Given the description of an element on the screen output the (x, y) to click on. 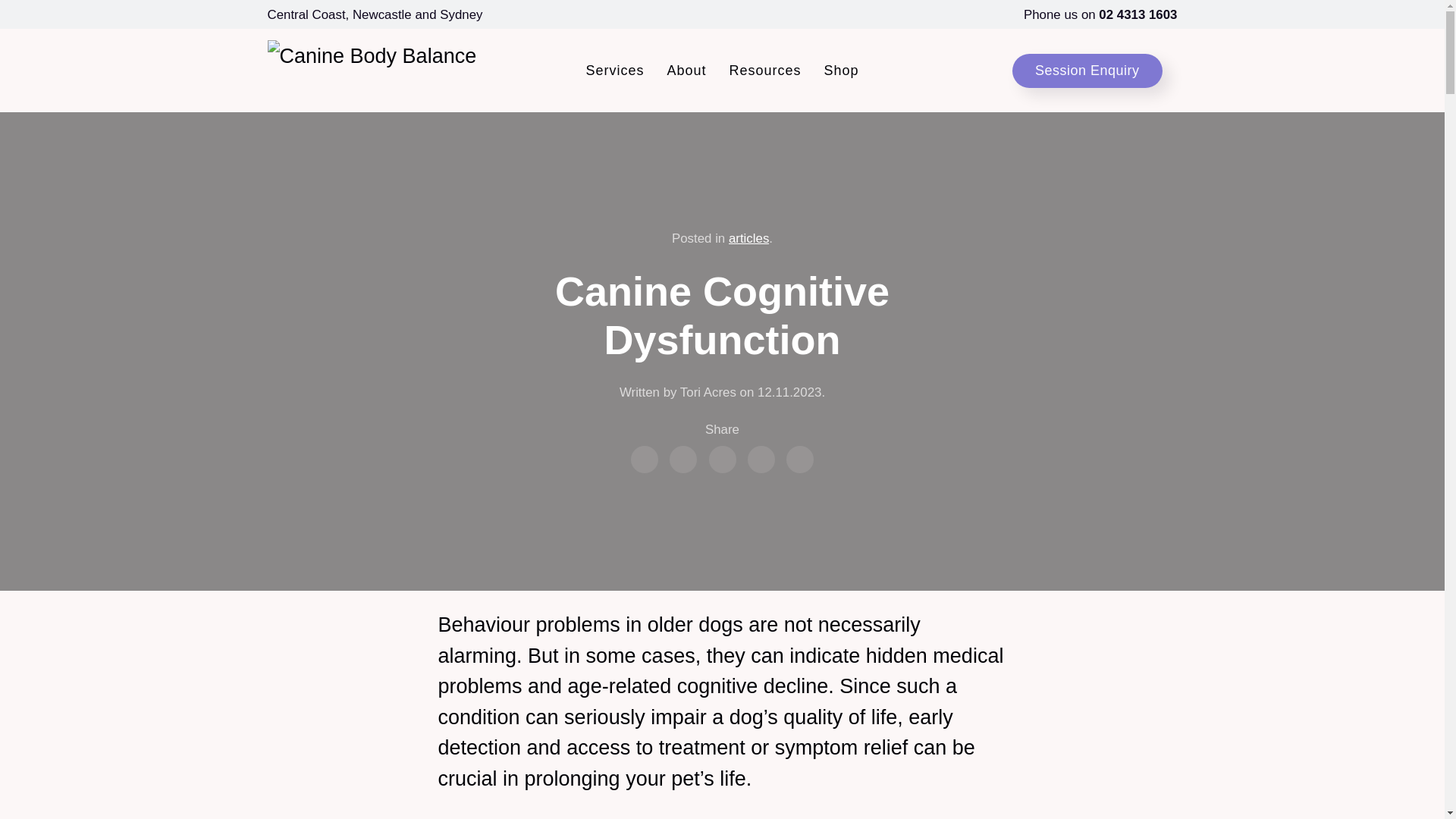
Services (614, 70)
Session Enquiry (1086, 69)
Resources (764, 70)
articles (748, 237)
